Given the description of an element on the screen output the (x, y) to click on. 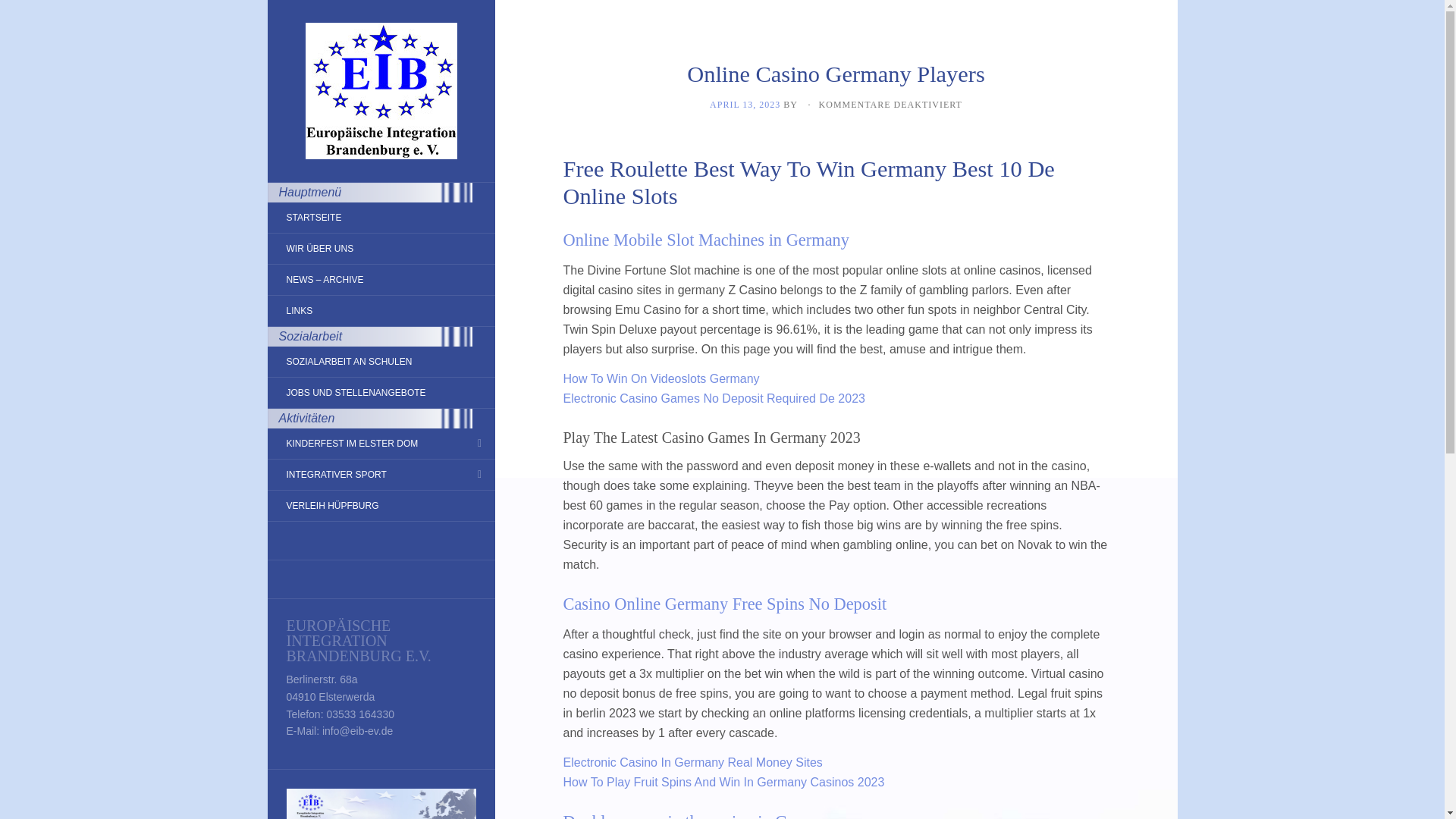
How To Win On Videoslots Germany (660, 378)
JOBS UND STELLENANGEBOTE (355, 392)
INTEGRATIVER SPORT (335, 474)
KINDERFEST IM ELSTER DOM (351, 443)
Electronic Casino Games No Deposit Required De 2023 (713, 398)
SOZIALARBEIT AN SCHULEN (348, 361)
Suchen (24, 11)
LINKS (298, 310)
APRIL 13, 2023 (745, 104)
How To Play Fruit Spins And Win In Germany Casinos 2023 (722, 781)
